Given the description of an element on the screen output the (x, y) to click on. 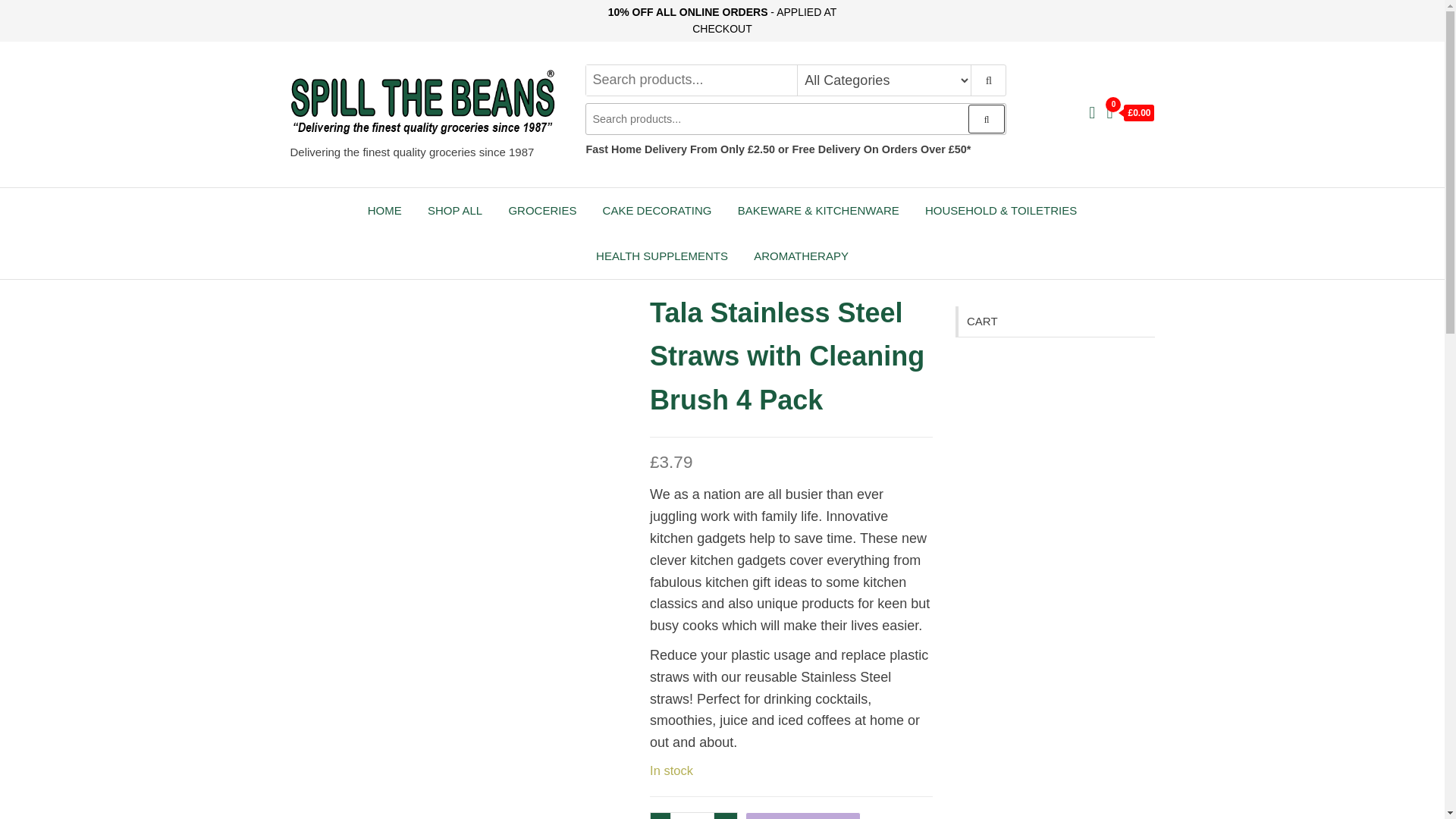
1 (691, 815)
SPILL THE BEANS (383, 152)
Groceries (542, 210)
HOME (384, 210)
Home (384, 210)
Cake Decorating (657, 210)
Shop All (454, 210)
Health Supplements (662, 256)
Aromatherapy (801, 256)
HEALTH SUPPLEMENTS (662, 256)
Add to basket (802, 815)
CAKE DECORATING (657, 210)
GROCERIES (542, 210)
View your shopping basket (1130, 113)
AROMATHERAPY (801, 256)
